Given the description of an element on the screen output the (x, y) to click on. 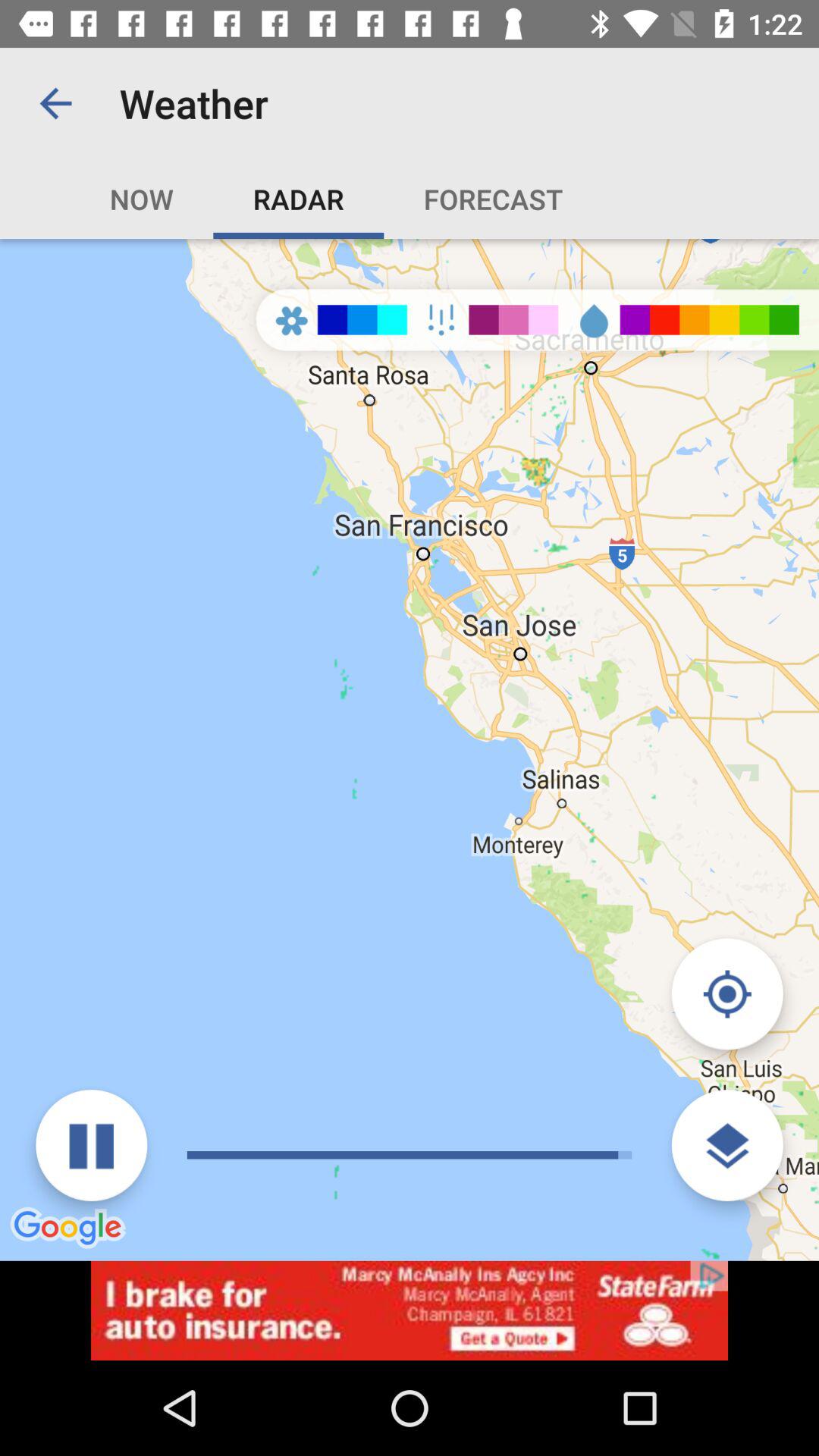
map (727, 993)
